Given the description of an element on the screen output the (x, y) to click on. 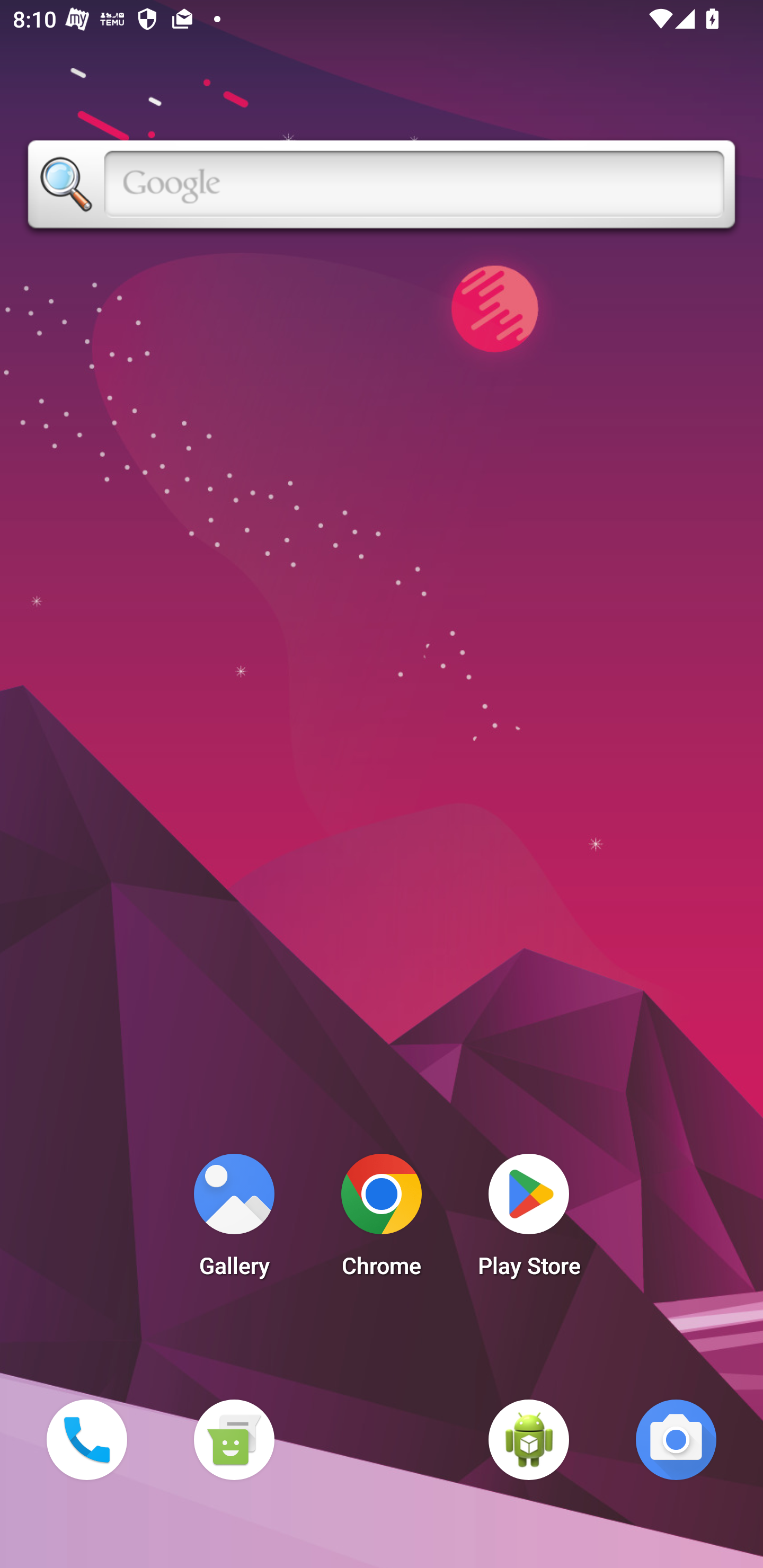
Gallery (233, 1220)
Chrome (381, 1220)
Play Store (528, 1220)
Phone (86, 1439)
Messaging (233, 1439)
WebView Browser Tester (528, 1439)
Camera (676, 1439)
